Given the description of an element on the screen output the (x, y) to click on. 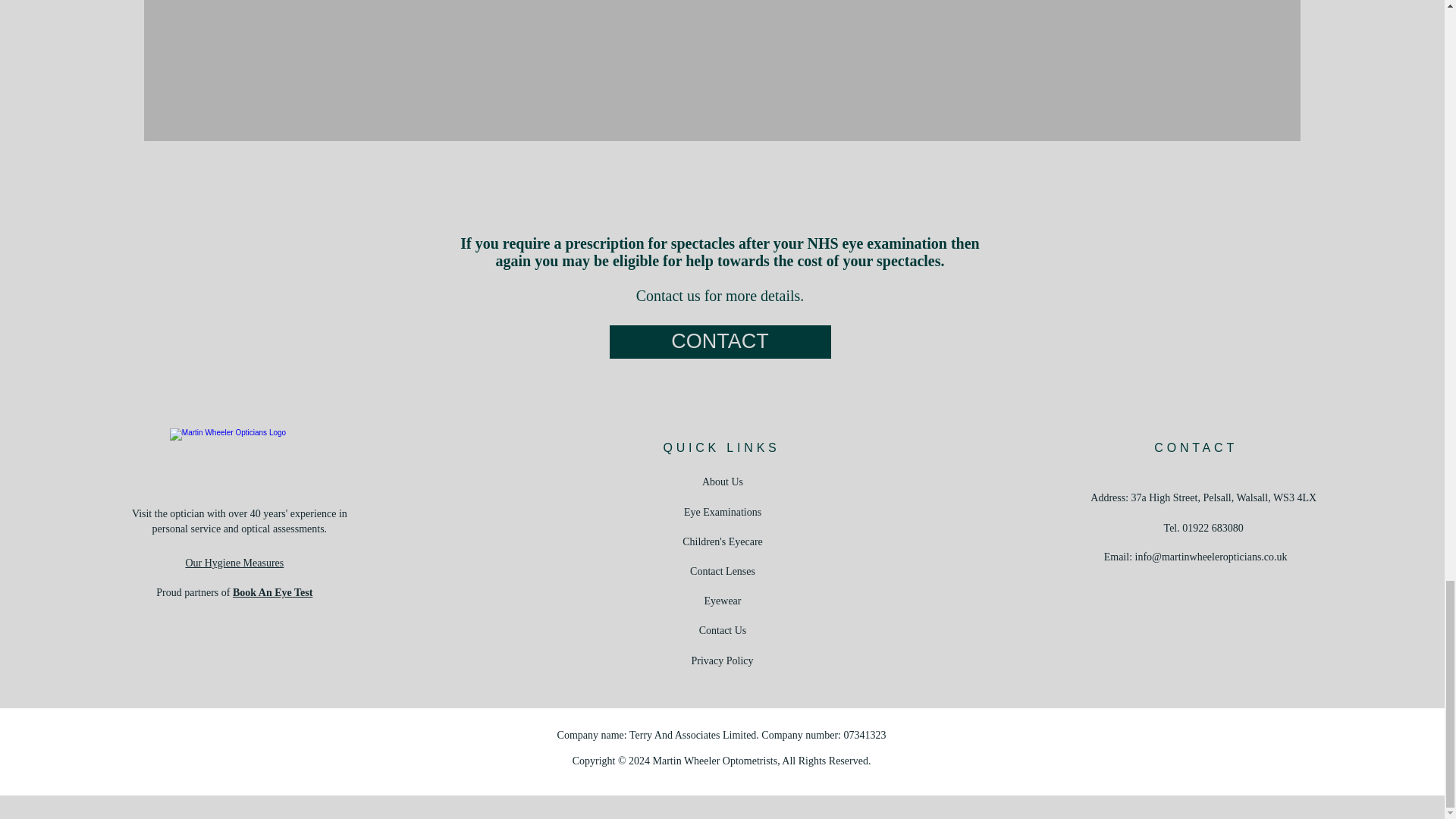
Our Hygiene Measures (233, 562)
01922 683080 (1212, 527)
Contact Us (722, 630)
Address:  (1110, 497)
CONTACT (720, 341)
Eyewear (722, 600)
Privacy Policy (721, 660)
Contact Lenses (722, 571)
About Us (721, 481)
Children's Eyecare (722, 541)
Eye Examinations (722, 511)
Book An Eye Test (272, 592)
